Given the description of an element on the screen output the (x, y) to click on. 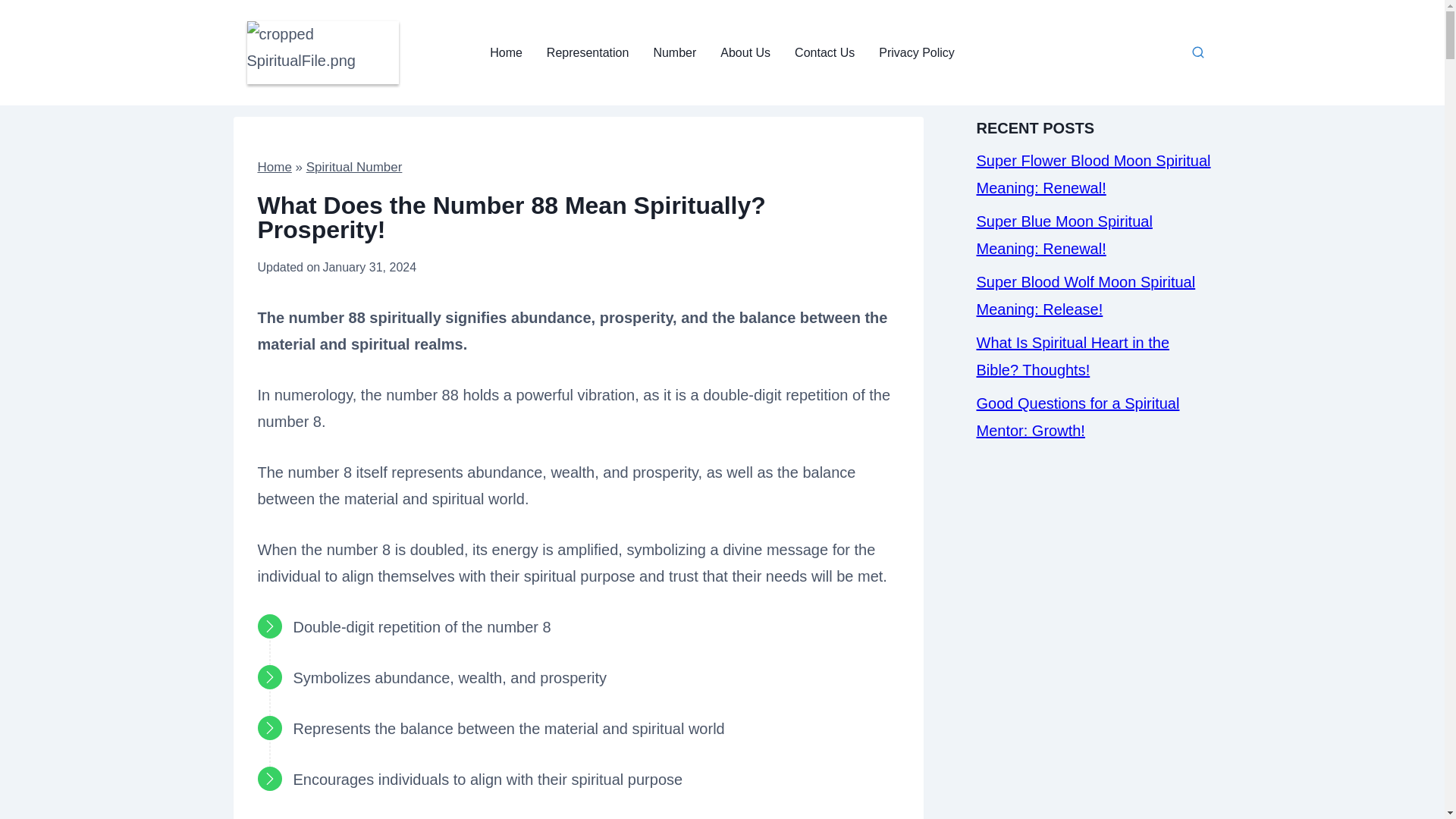
Home (505, 52)
Spiritual Number (354, 166)
Home (274, 166)
Representation (588, 52)
Contact Us (824, 52)
Privacy Policy (916, 52)
Number (673, 52)
About Us (745, 52)
